Given the description of an element on the screen output the (x, y) to click on. 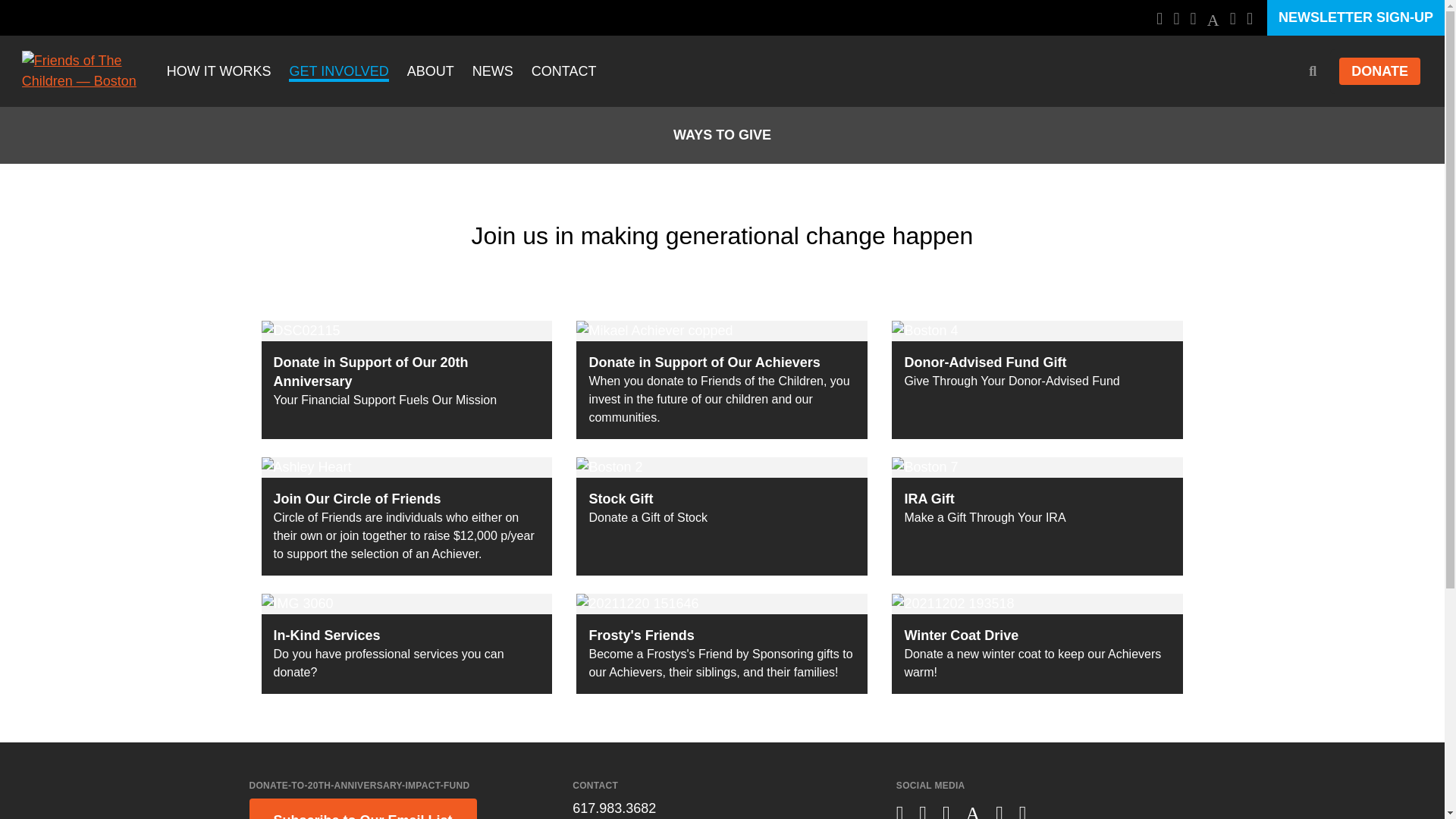
CONTACT (563, 72)
DONATE (1380, 71)
NEWS (492, 72)
HOW IT WORKS (218, 72)
ABOUT (430, 72)
GET INVOLVED (338, 72)
